Given the description of an element on the screen output the (x, y) to click on. 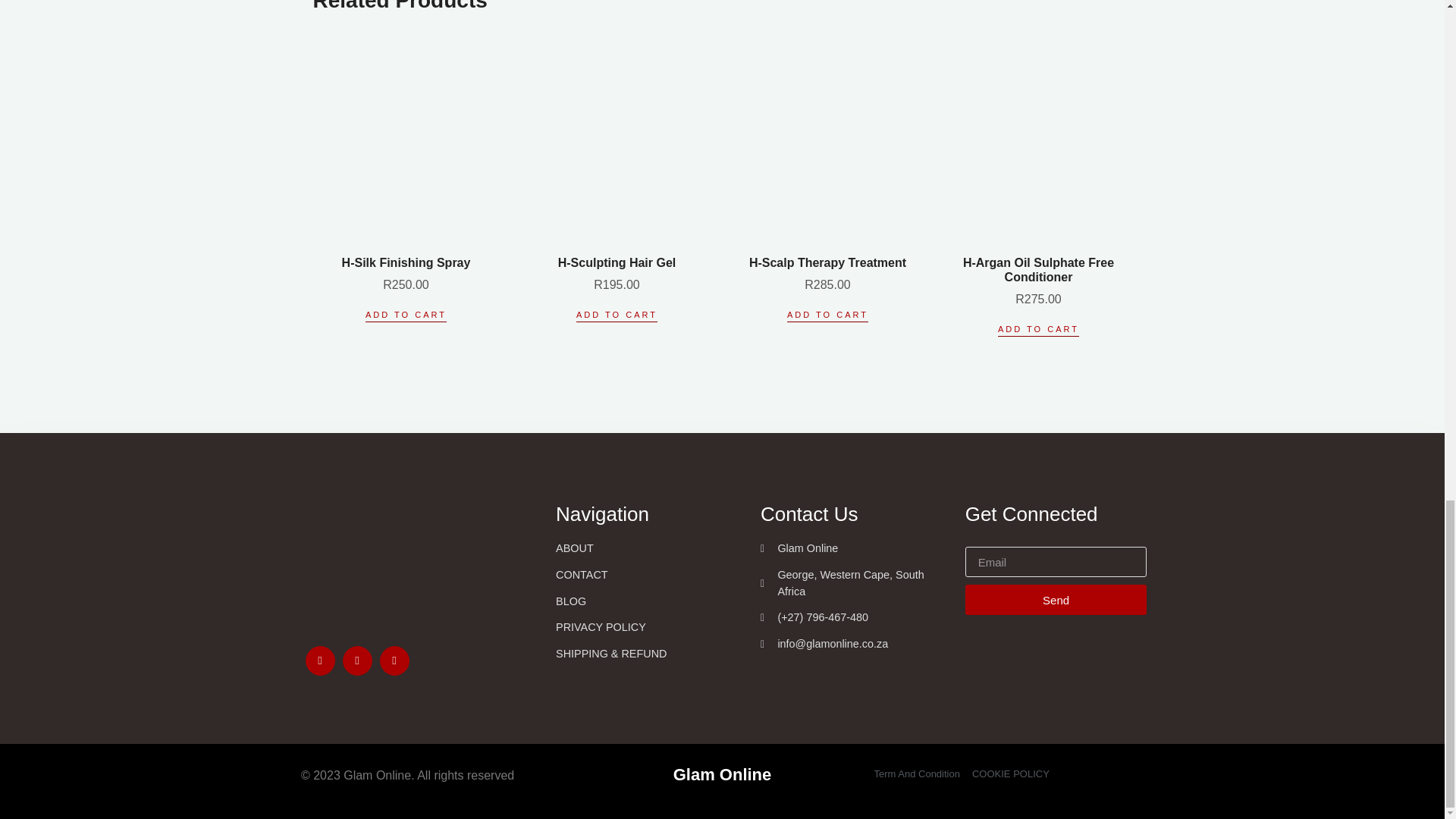
ADD TO CART (617, 315)
BLOG (647, 601)
CONTACT (647, 575)
ADD TO CART (827, 315)
ABOUT (647, 548)
ADD TO CART (1037, 329)
ADD TO CART (405, 315)
